Given the description of an element on the screen output the (x, y) to click on. 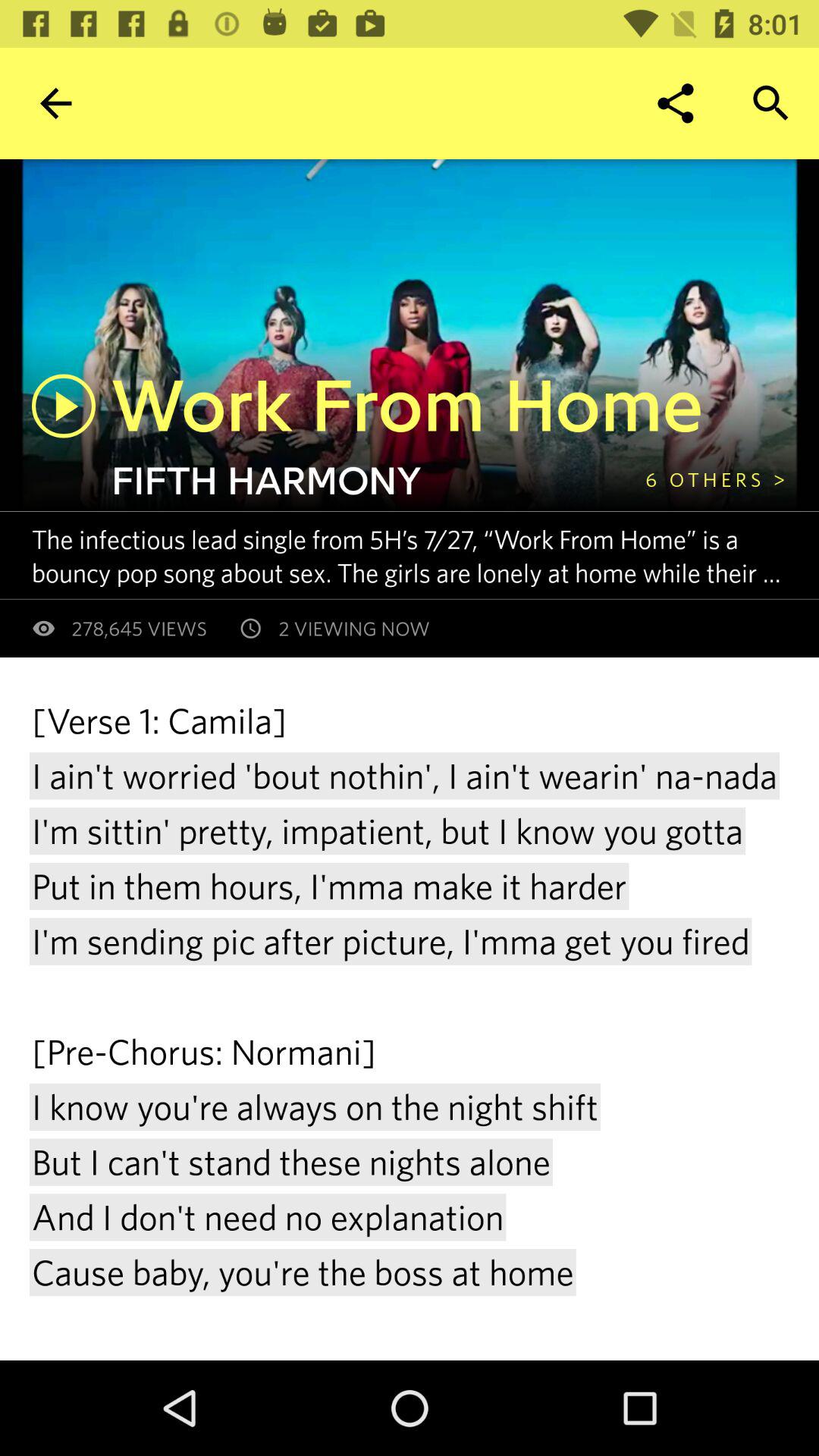
press to play song (63, 405)
